Given the description of an element on the screen output the (x, y) to click on. 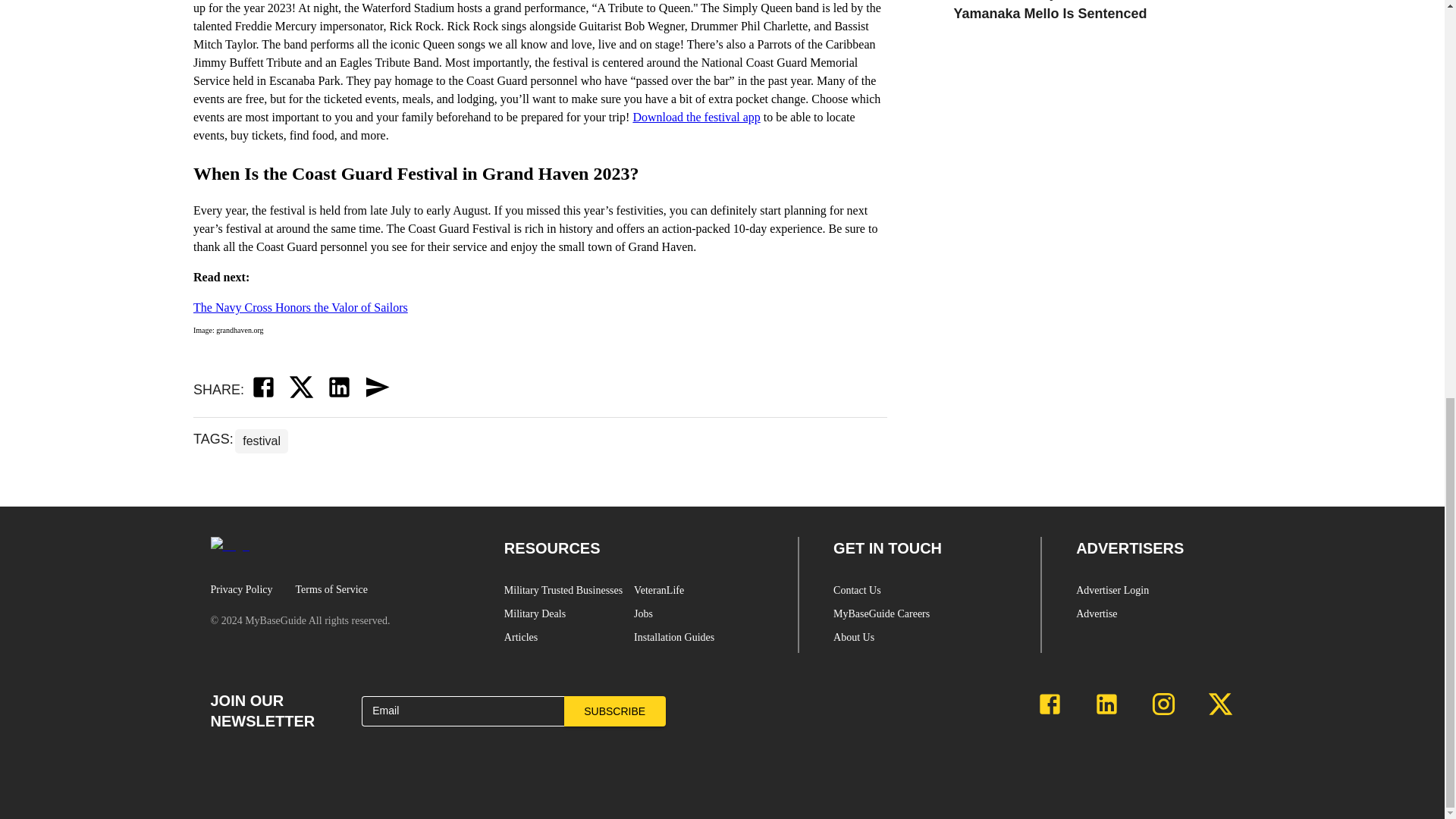
About Us (919, 640)
VeteranLife (697, 594)
Military Deals (568, 617)
Download the festival app (695, 116)
Advertise (1162, 617)
Advertiser Login (1162, 594)
Contact Us (919, 594)
The Navy Cross Honors the Valor of Sailors (300, 307)
Articles (568, 640)
MyBaseGuide Careers (919, 617)
Military Trusted Businesses (568, 594)
Jobs (697, 617)
Terms of Service (331, 589)
Installation Guides (697, 640)
